Given the description of an element on the screen output the (x, y) to click on. 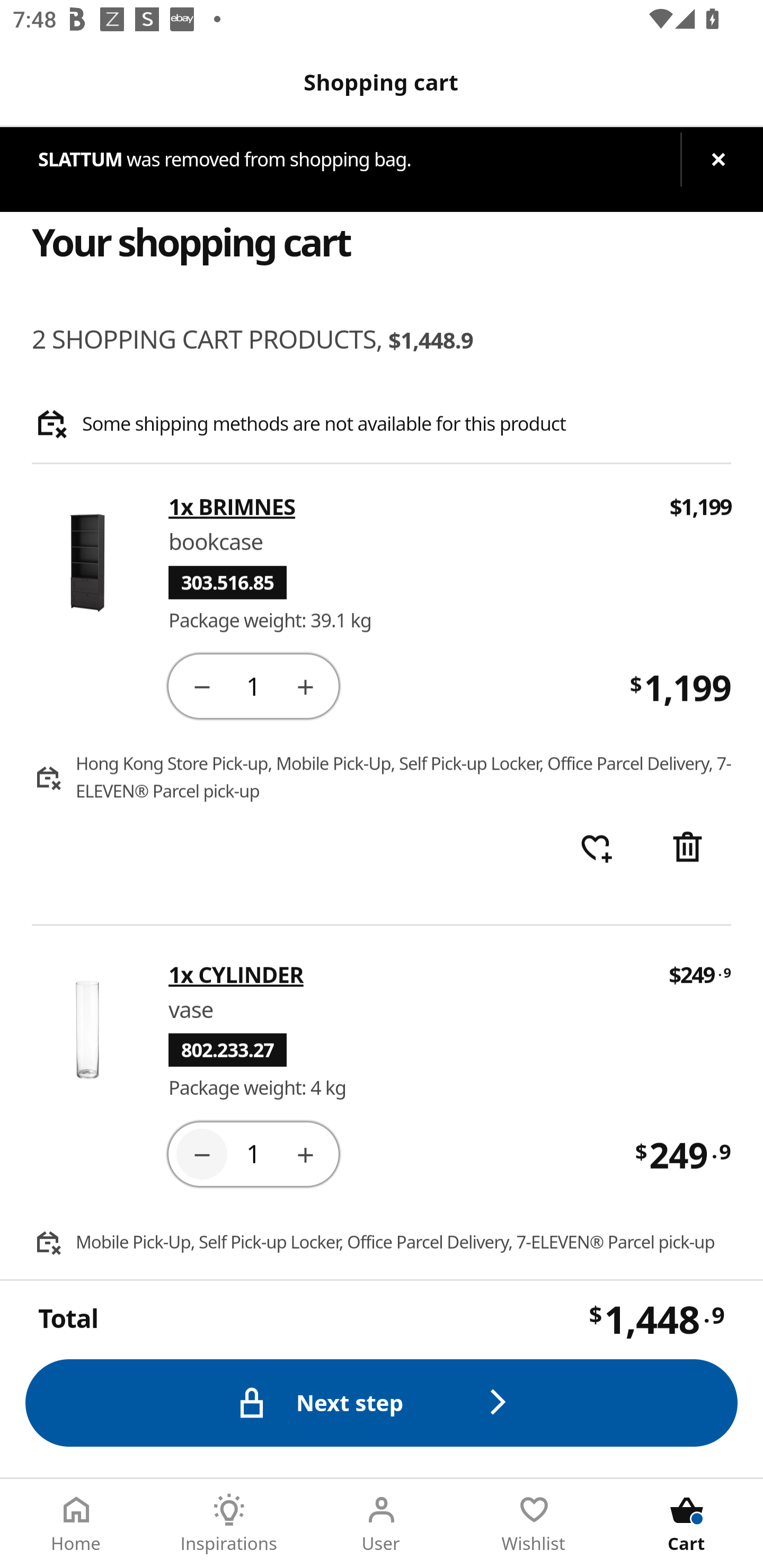
1x  BRIMNES 1x  BRIMNES (406, 507)
1 (253, 685)
 (201, 685)
 (305, 685)
  (595, 848)
 (686, 848)
1x  CYLINDER 1x  CYLINDER (405, 974)
1 (253, 1153)
 (201, 1153)
 (305, 1153)
Home
Tab 1 of 5 (76, 1522)
Inspirations
Tab 2 of 5 (228, 1522)
User
Tab 3 of 5 (381, 1522)
Wishlist
Tab 4 of 5 (533, 1522)
Cart
Tab 5 of 5 (686, 1522)
